Given the description of an element on the screen output the (x, y) to click on. 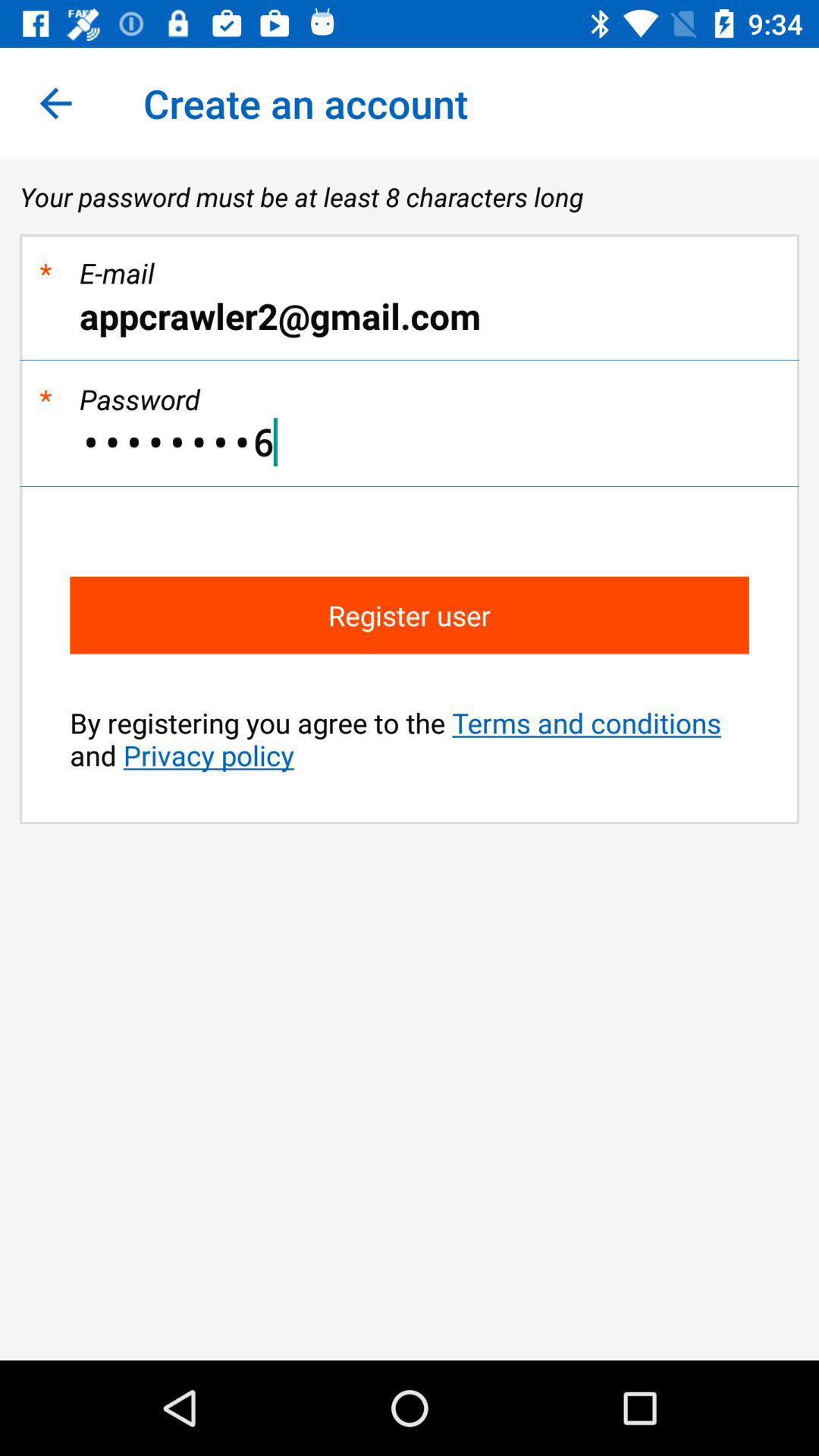
select the icon above your password must (55, 103)
